Given the description of an element on the screen output the (x, y) to click on. 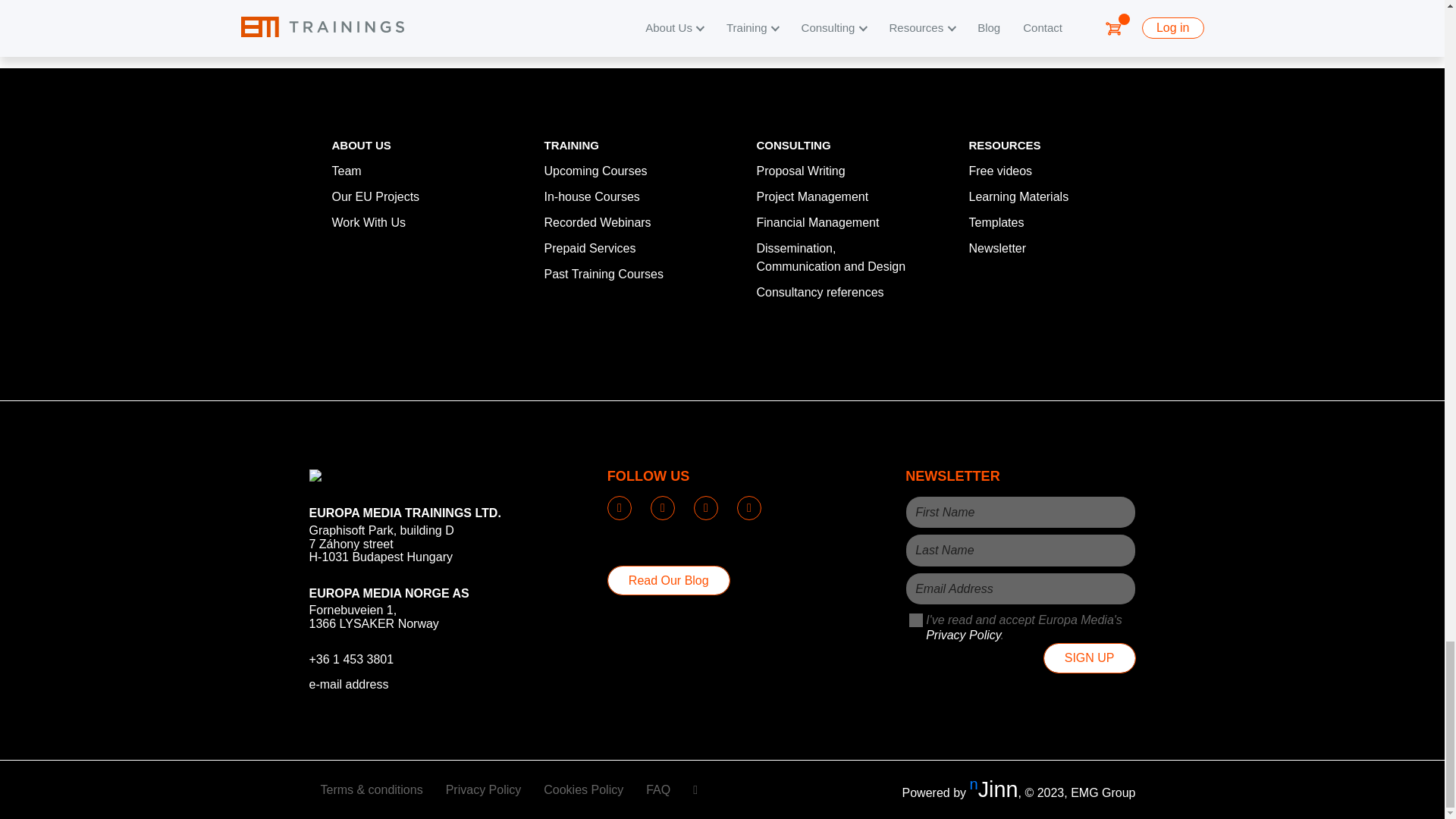
on (915, 620)
Follow us on facebook (748, 508)
Our EU Projects (375, 196)
Follow us on Twitter (705, 508)
ABOUT US (361, 144)
Follow us on LinkedIn (619, 508)
Team (346, 170)
Follow us on YouTube (662, 508)
